Given the description of an element on the screen output the (x, y) to click on. 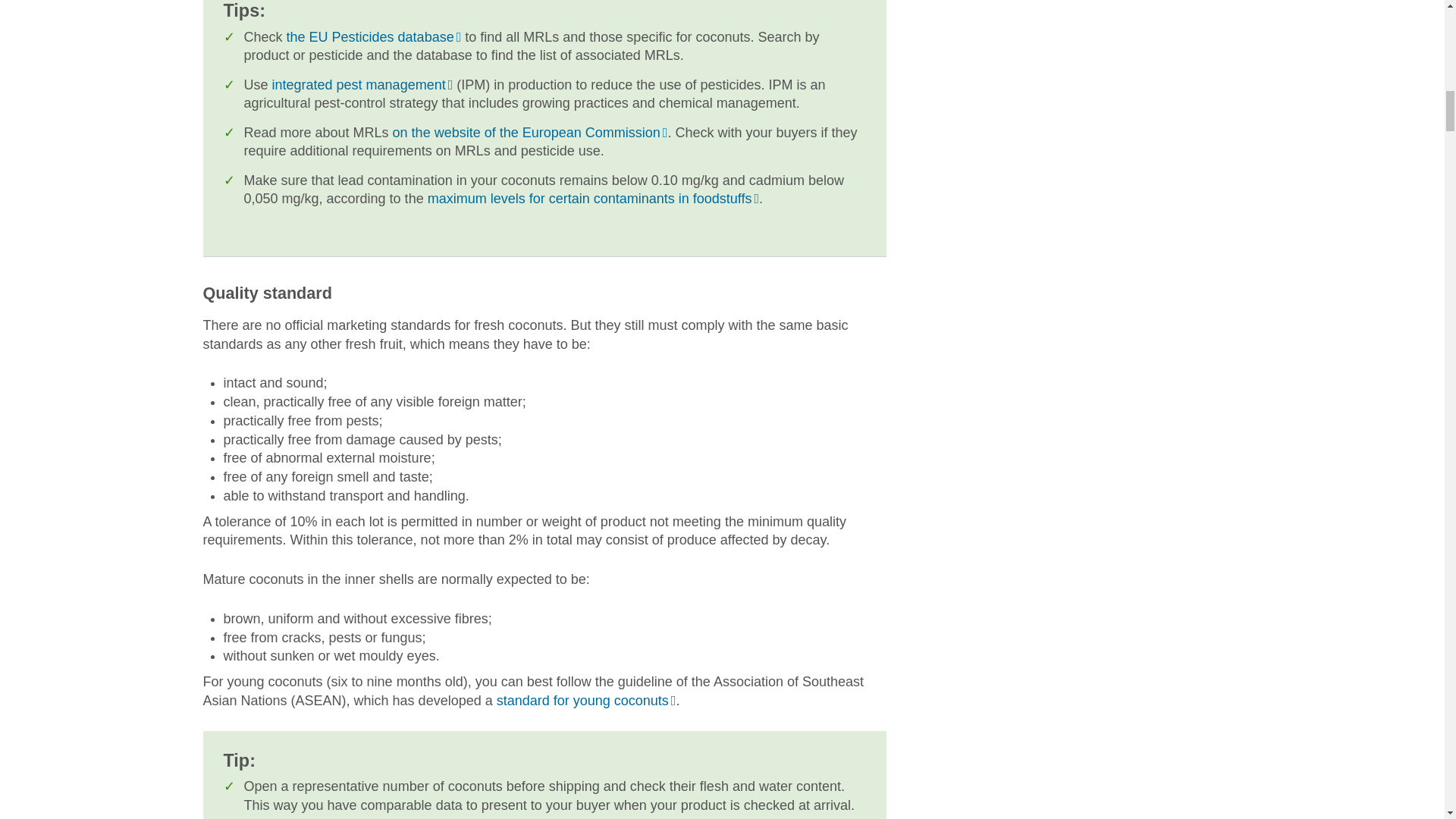
on the website of the European Commission (530, 132)
the EU Pesticides database (373, 37)
maximum levels for certain contaminants in foodstuffs (593, 198)
integrated pest management (362, 84)
standard for young coconuts (586, 700)
